Given the description of an element on the screen output the (x, y) to click on. 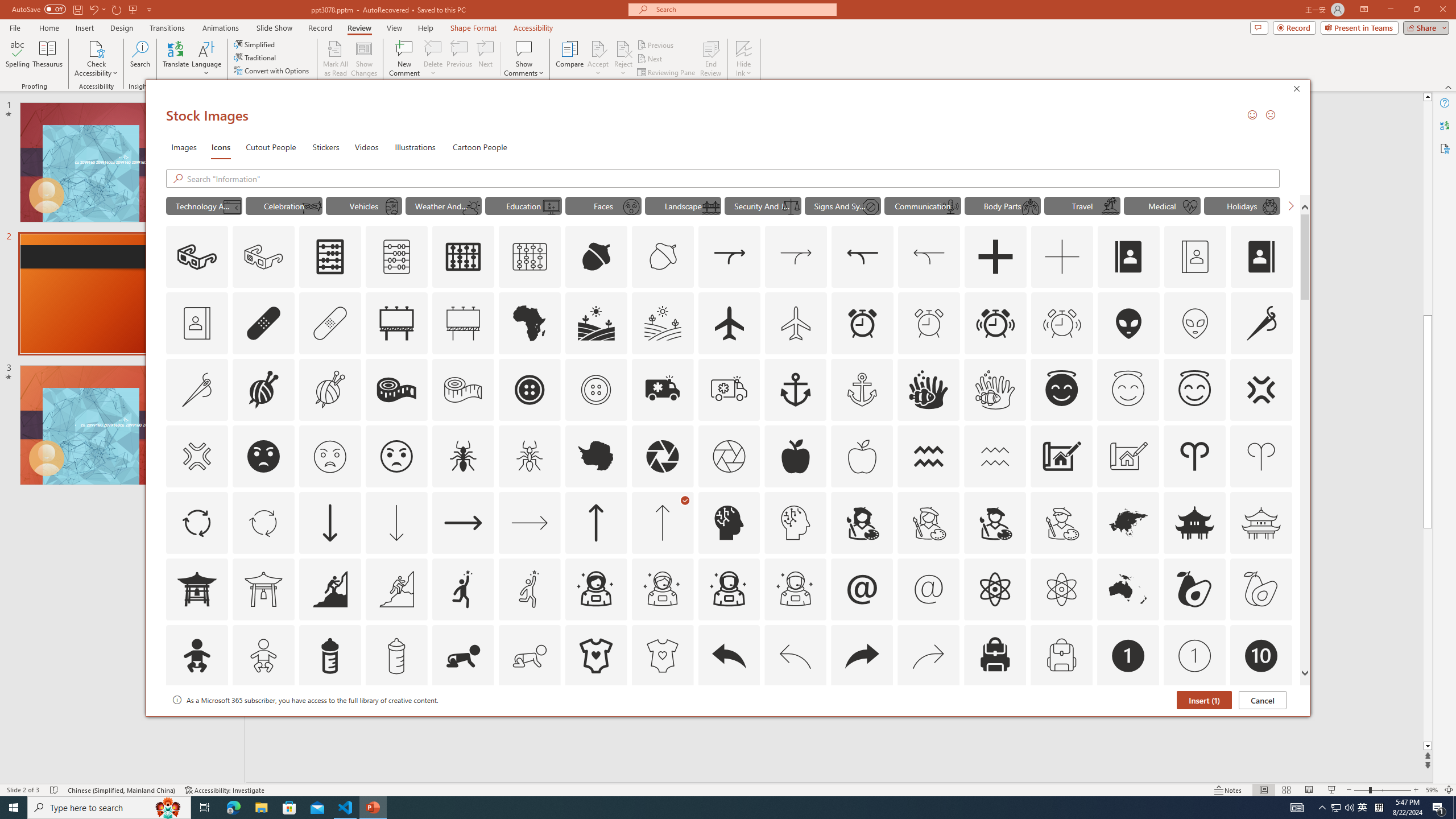
AutomationID: Icons_Acquisition_RTL_M (928, 256)
AutomationID: Icons_Badge8 (1061, 721)
"Technology And Electronics" Icons. (203, 205)
AutomationID: Icons_AlterationsTailoring2_M (462, 389)
